Given the description of an element on the screen output the (x, y) to click on. 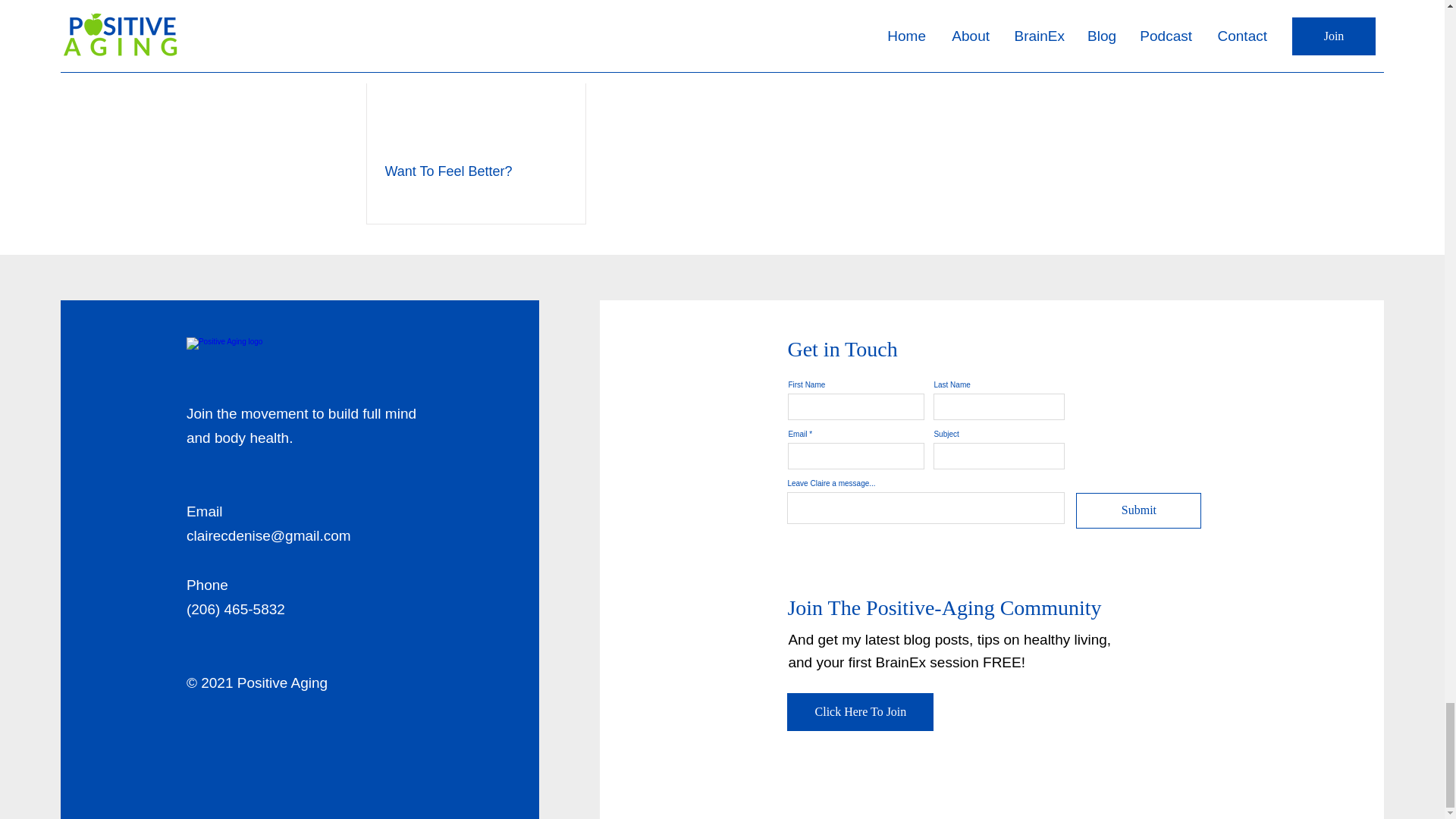
Submit (1138, 510)
See All (1061, 3)
Want To Feel Better? (476, 171)
Click Here To Join (860, 711)
